Given the description of an element on the screen output the (x, y) to click on. 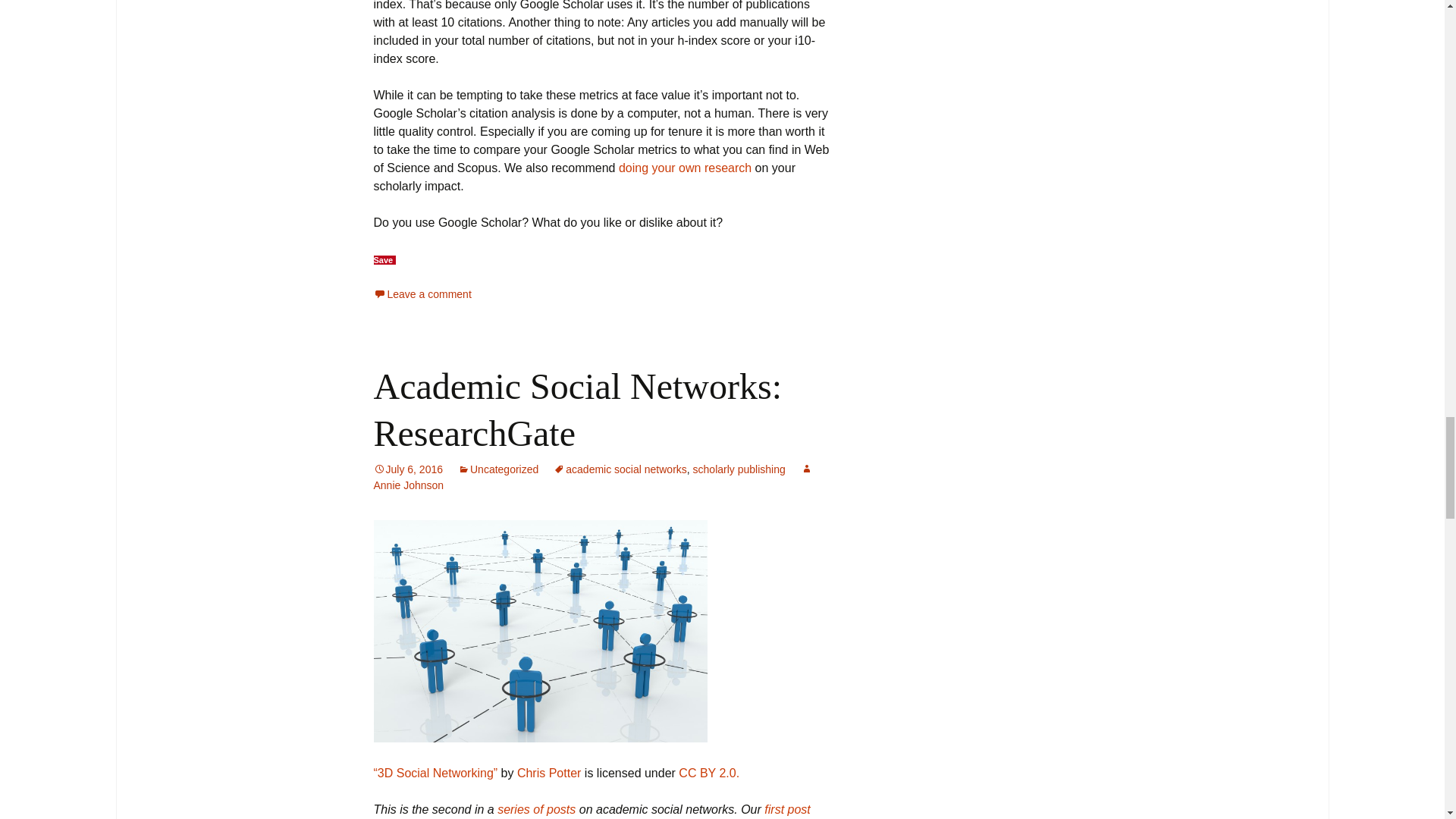
Permalink to Academic Social Networks: ResearchGate (407, 469)
doing your own research (684, 167)
Leave a comment (421, 294)
View all posts by Annie Johnson (592, 477)
